Given the description of an element on the screen output the (x, y) to click on. 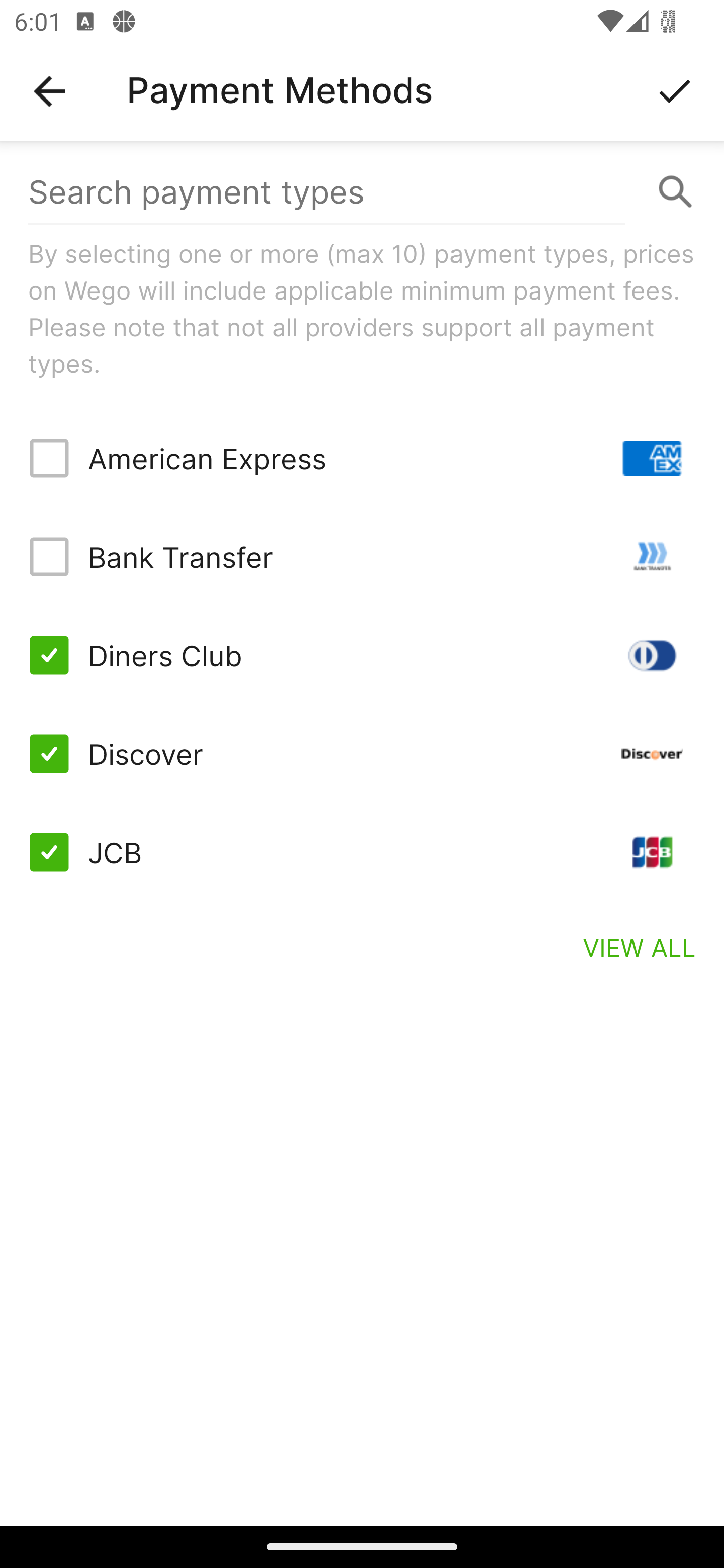
Search payment types  (361, 191)
American Express (362, 458)
Bank Transfer (362, 557)
Diners Club (362, 655)
Discover (362, 753)
JCB (362, 851)
VIEW ALL (639, 946)
